Given the description of an element on the screen output the (x, y) to click on. 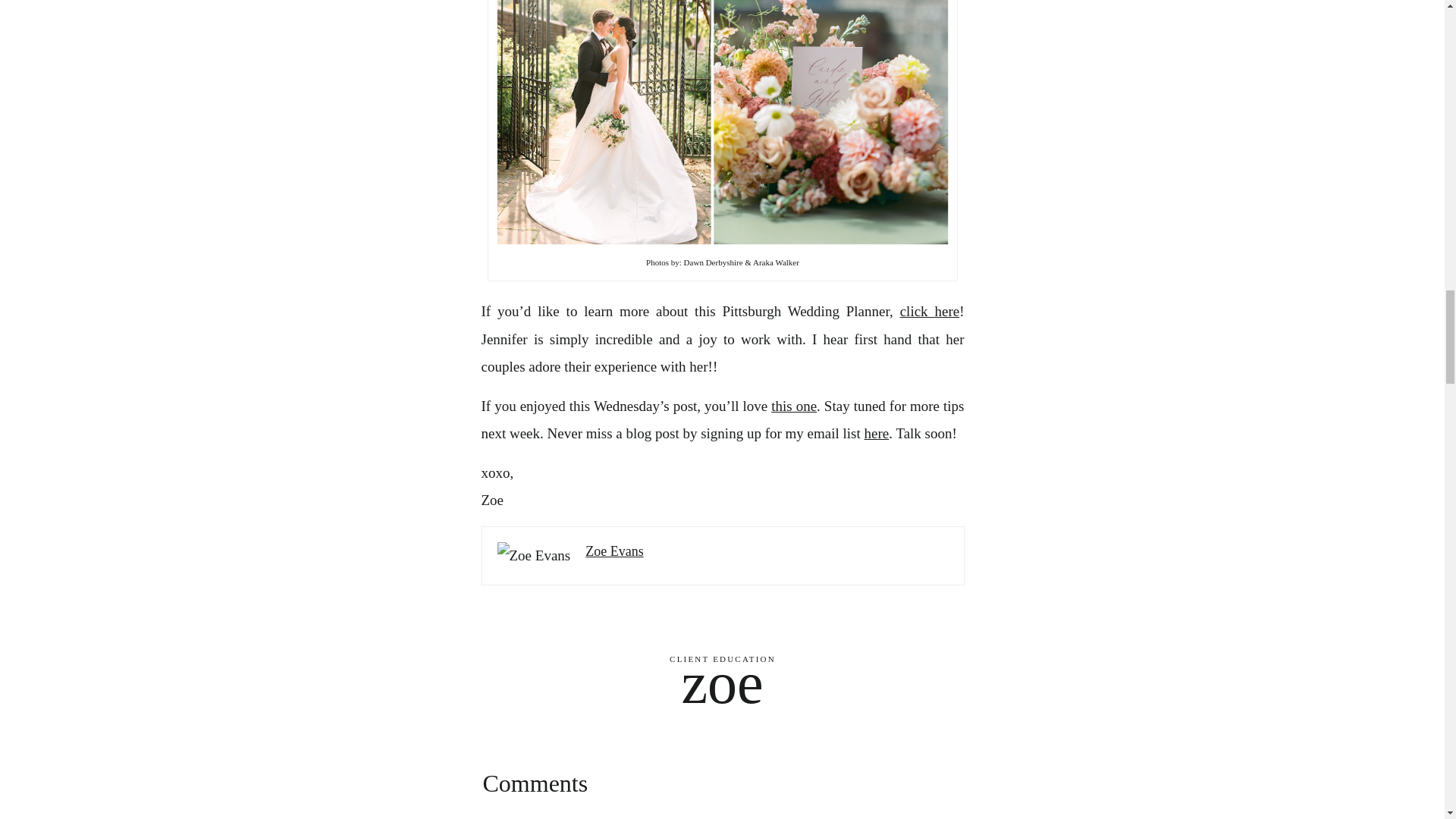
CLIENT EDUCATION (722, 658)
this one (793, 406)
click here (929, 311)
Zoe Evans (614, 550)
here (876, 433)
